Given the description of an element on the screen output the (x, y) to click on. 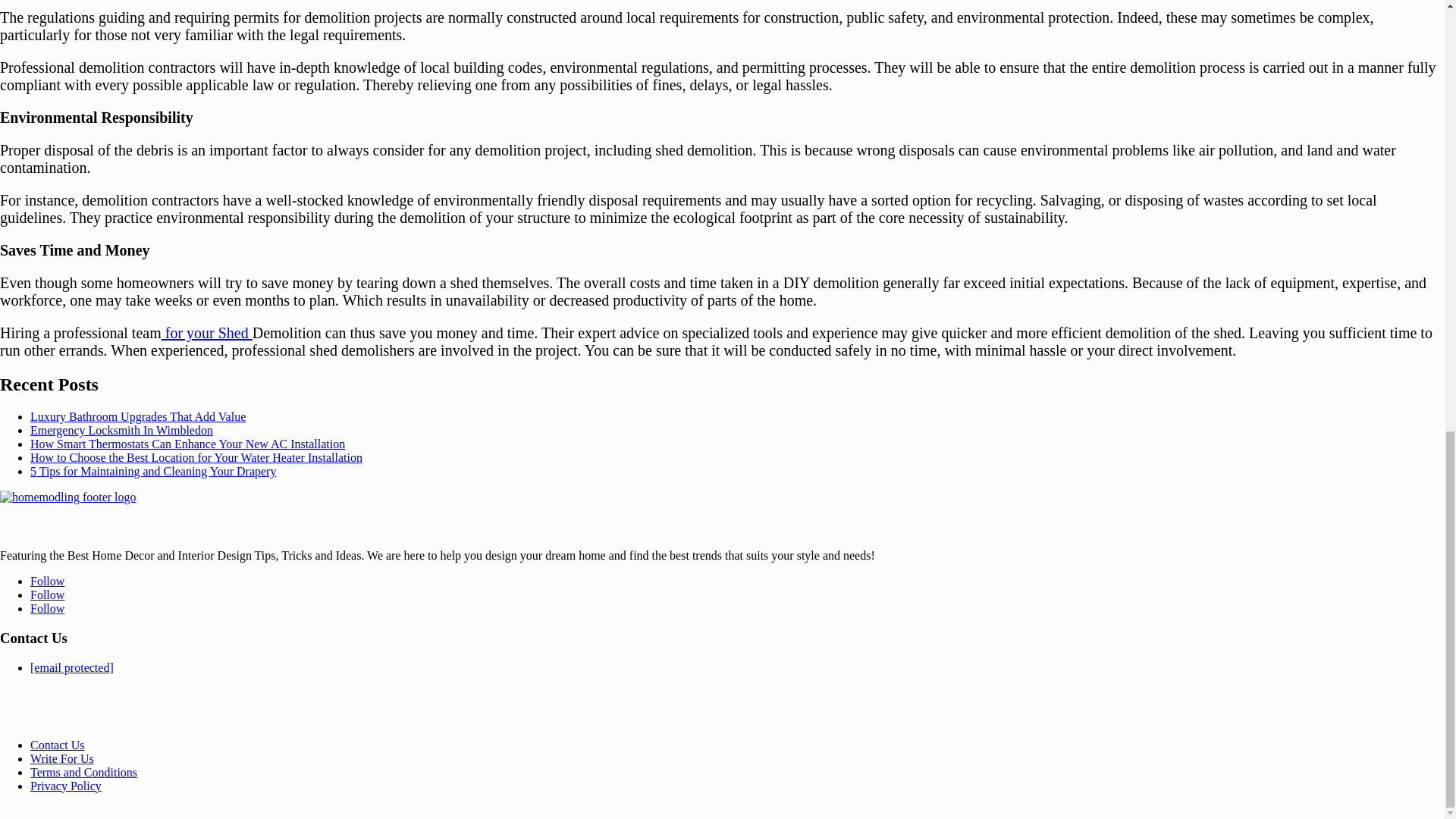
Follow (47, 608)
5 Tips for Maintaining and Cleaning Your Drapery (153, 471)
Follow on Instagram (47, 608)
Follow on Facebook (47, 581)
for your Shed (206, 332)
Emergency Locksmith In Wimbledon (121, 430)
Write For Us (62, 758)
Follow (47, 594)
Follow (47, 581)
